Given the description of an element on the screen output the (x, y) to click on. 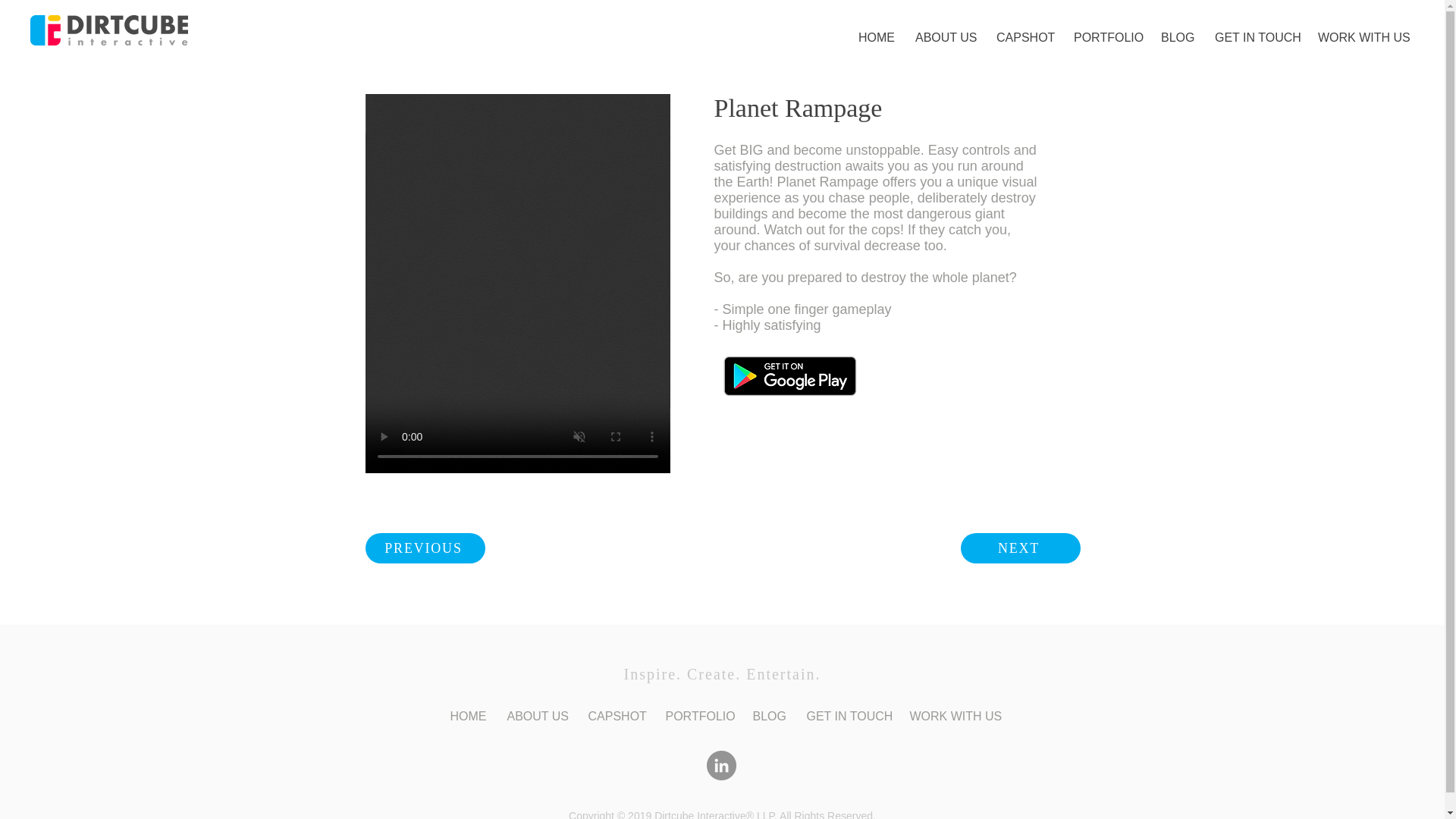
PREVIOUS (424, 548)
GET IN TOUCH (846, 716)
WORK WITH US (1359, 37)
NEXT (1019, 548)
ABOUT US (944, 37)
HOME (875, 37)
WORK WITH US (952, 716)
BLOG (1177, 37)
GET IN TOUCH (1255, 37)
CAPSHOT (1023, 37)
